Given the description of an element on the screen output the (x, y) to click on. 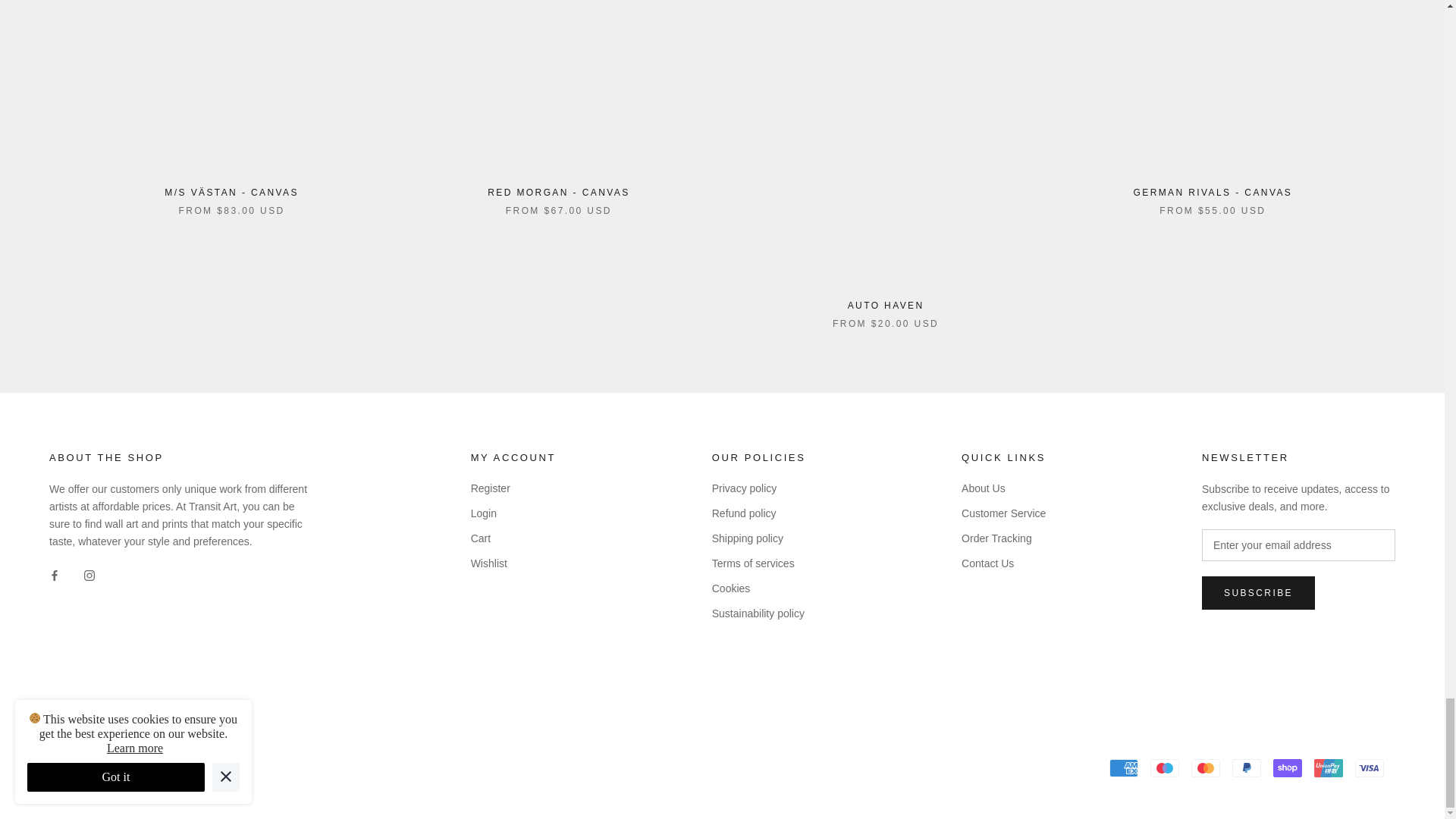
PayPal (1245, 768)
American Express (1123, 768)
Mastercard (1205, 768)
Union Pay (1328, 768)
Visa (1369, 768)
Maestro (1164, 768)
Shop Pay (1286, 768)
